Given the description of an element on the screen output the (x, y) to click on. 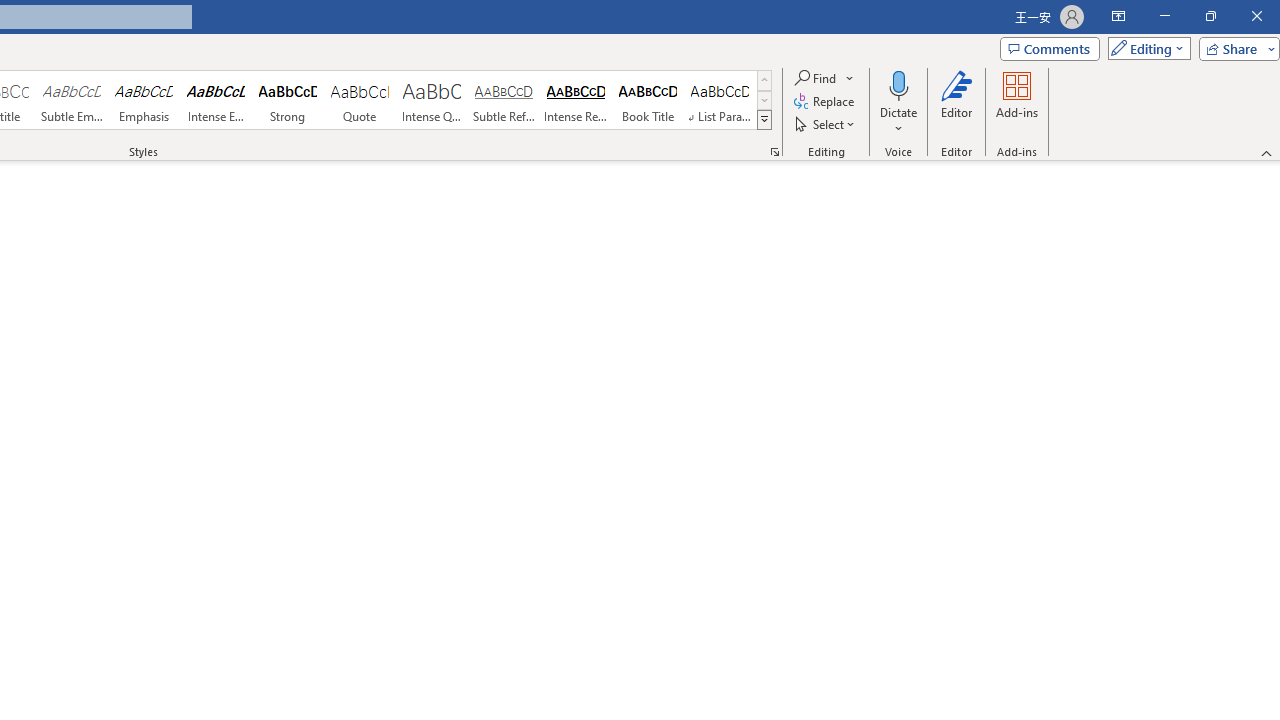
Book Title (647, 100)
Intense Quote (431, 100)
Strong (287, 100)
Subtle Emphasis (71, 100)
